Given the description of an element on the screen output the (x, y) to click on. 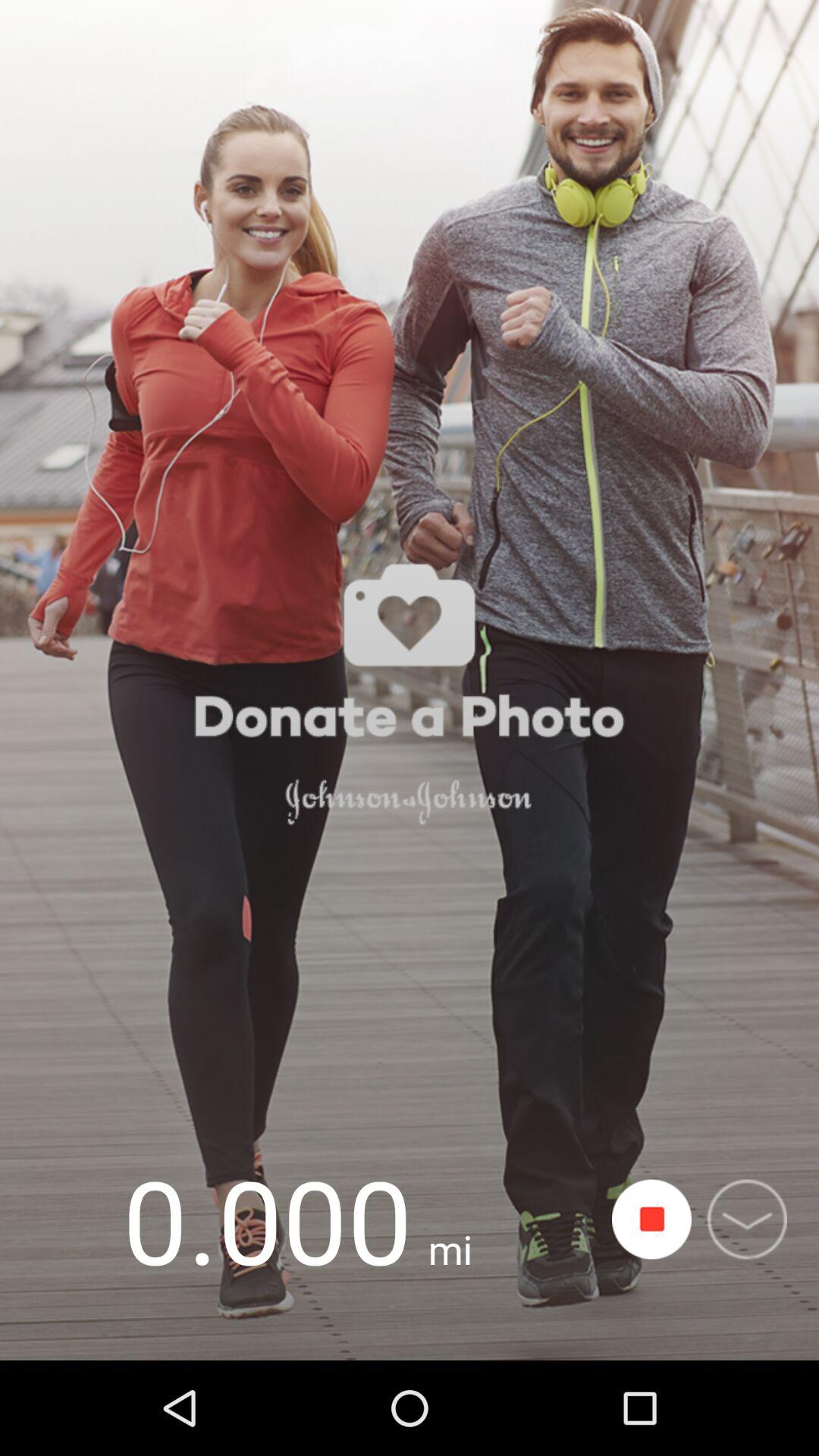
start (651, 1219)
